Given the description of an element on the screen output the (x, y) to click on. 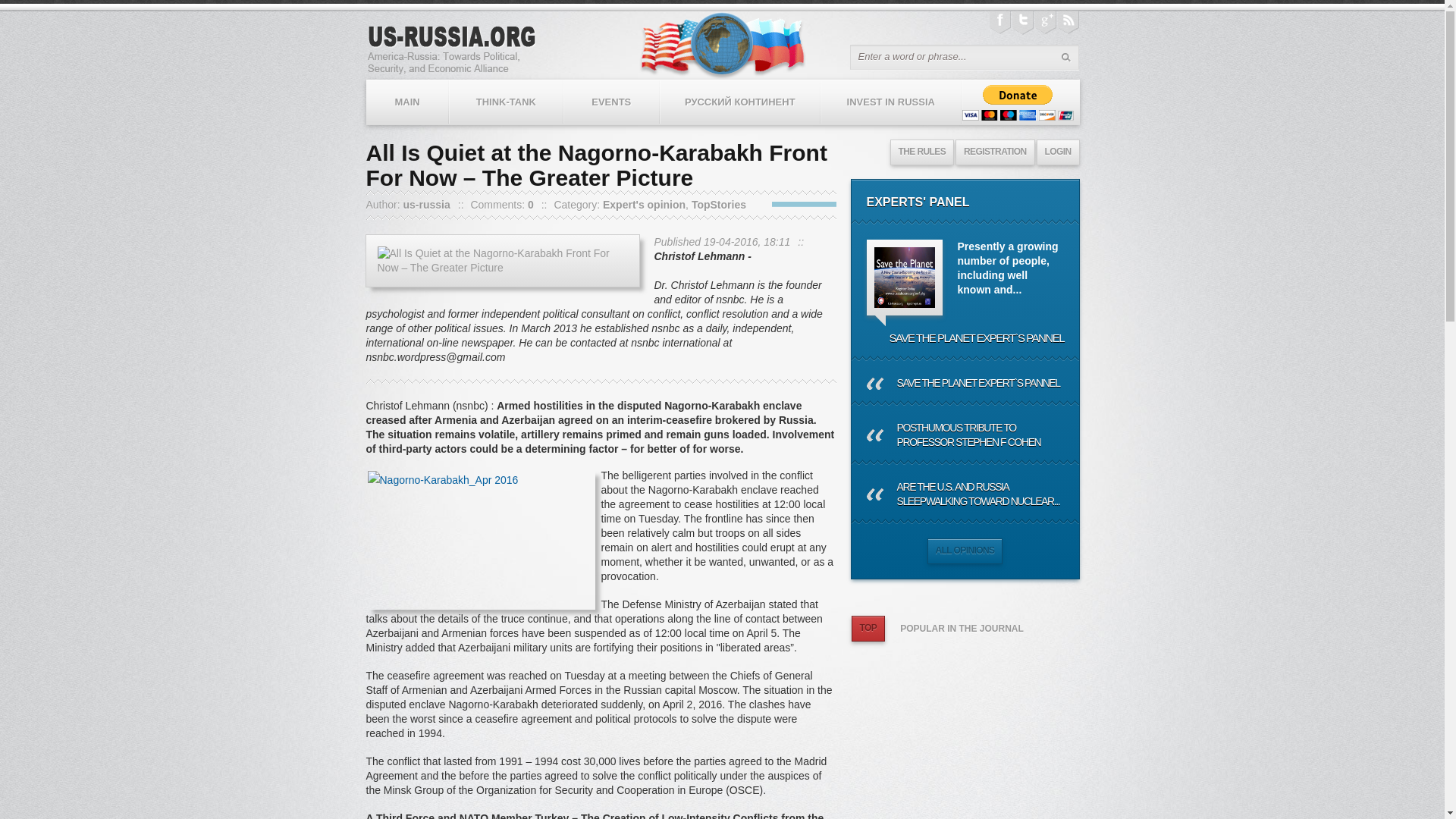
TopStories (718, 204)
POSTHUMOUS TRIBUTE TO PROFESSOR STEPHEN F COHEN (964, 435)
EVENTS (611, 101)
Excellent (829, 204)
THINK-TANK (505, 101)
INVEST IN RUSSIA (890, 101)
Enter a word or phrase... (944, 56)
MAIN (407, 101)
Acceptable (790, 204)
Expert's opinion (643, 204)
2 (790, 204)
1 (777, 204)
5 (829, 204)
LOGIN (1057, 152)
Average (803, 204)
